Given the description of an element on the screen output the (x, y) to click on. 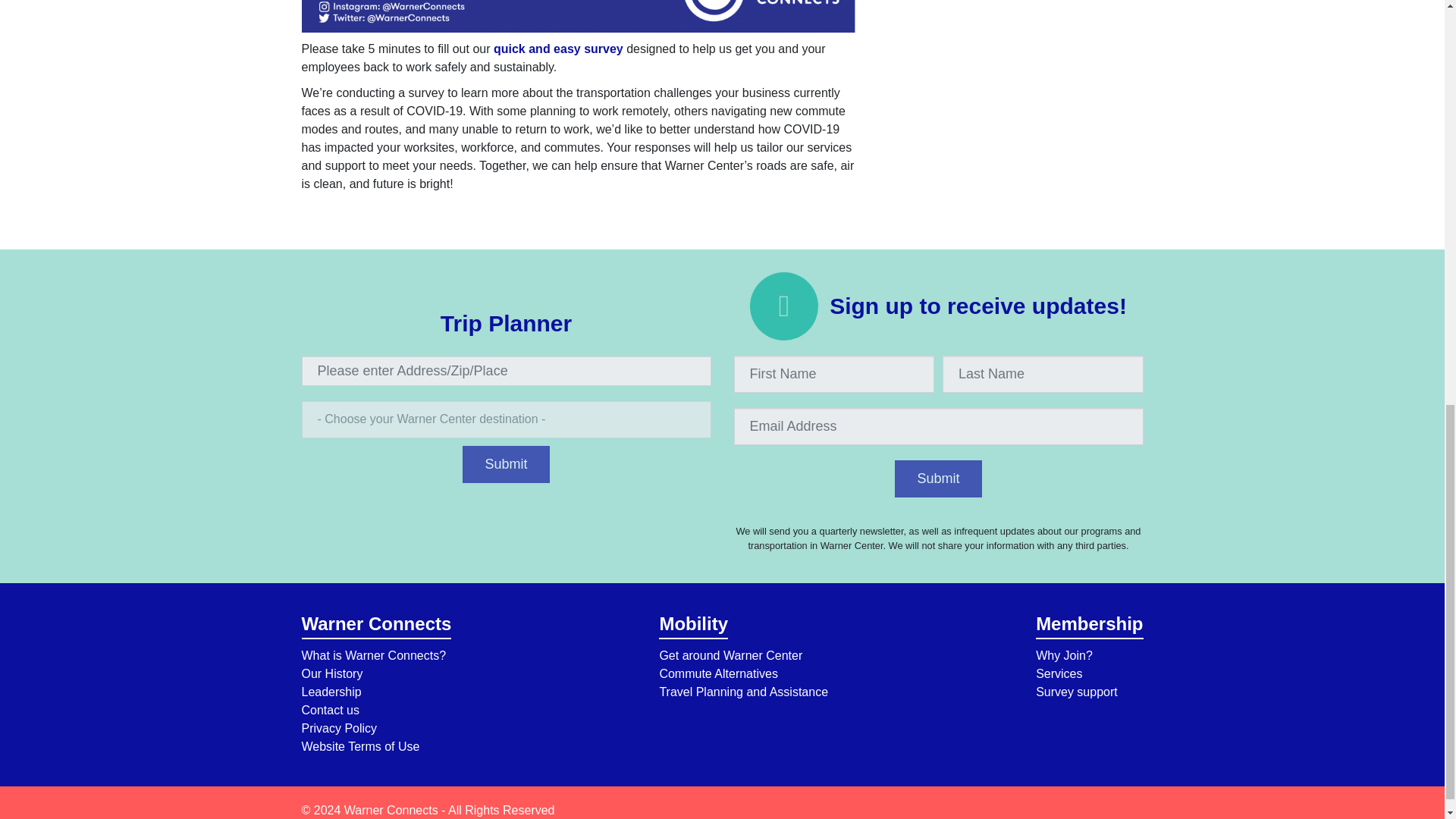
quick and easy survey (558, 48)
Submit (505, 464)
